Given the description of an element on the screen output the (x, y) to click on. 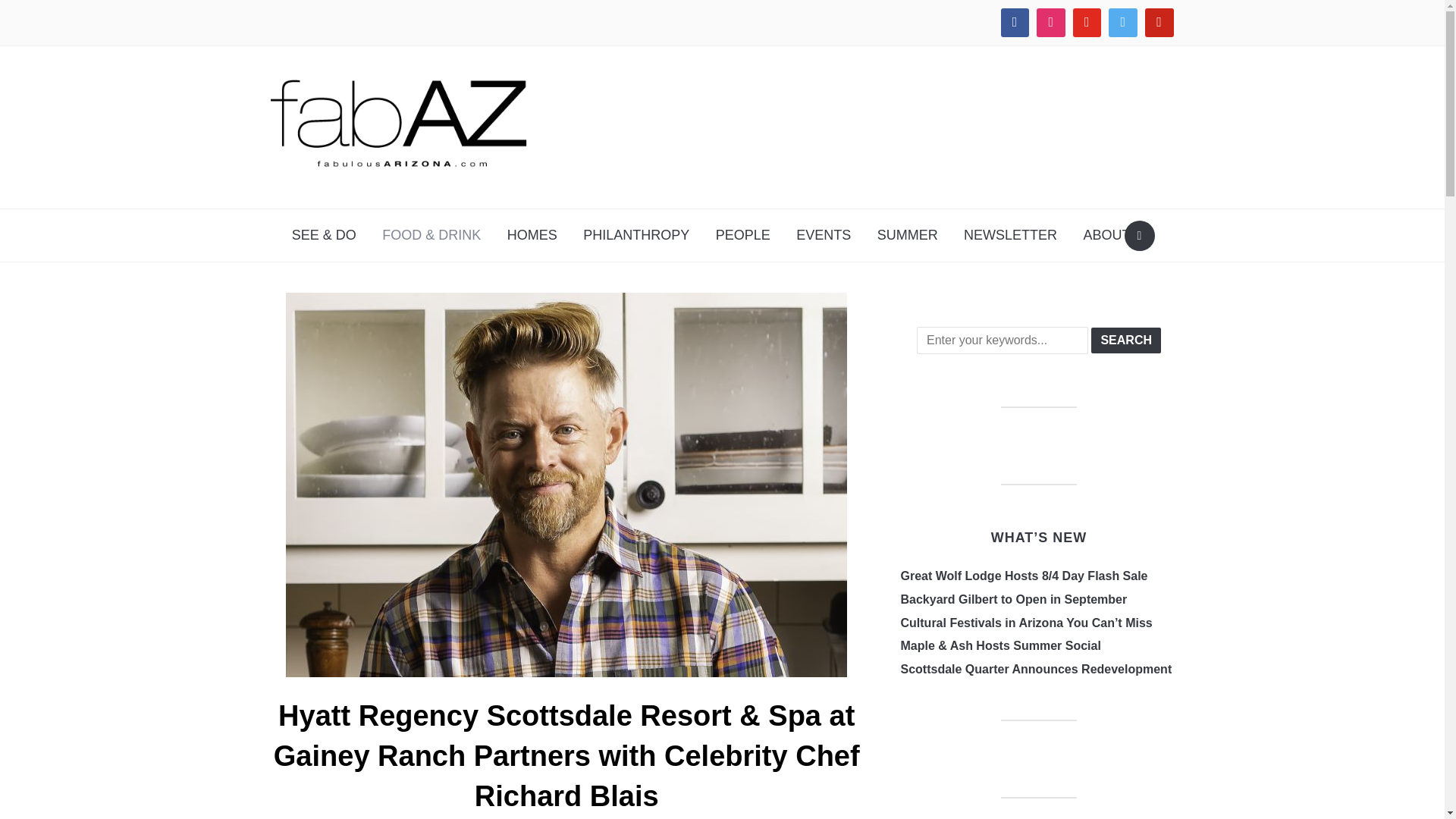
Default Label (1159, 22)
Instagram (1050, 22)
Twitter (1123, 22)
Default Label (1086, 22)
Search (1125, 339)
Search (1139, 235)
Facebook (1015, 22)
Search (1125, 339)
Fabulous People (742, 235)
